Given the description of an element on the screen output the (x, y) to click on. 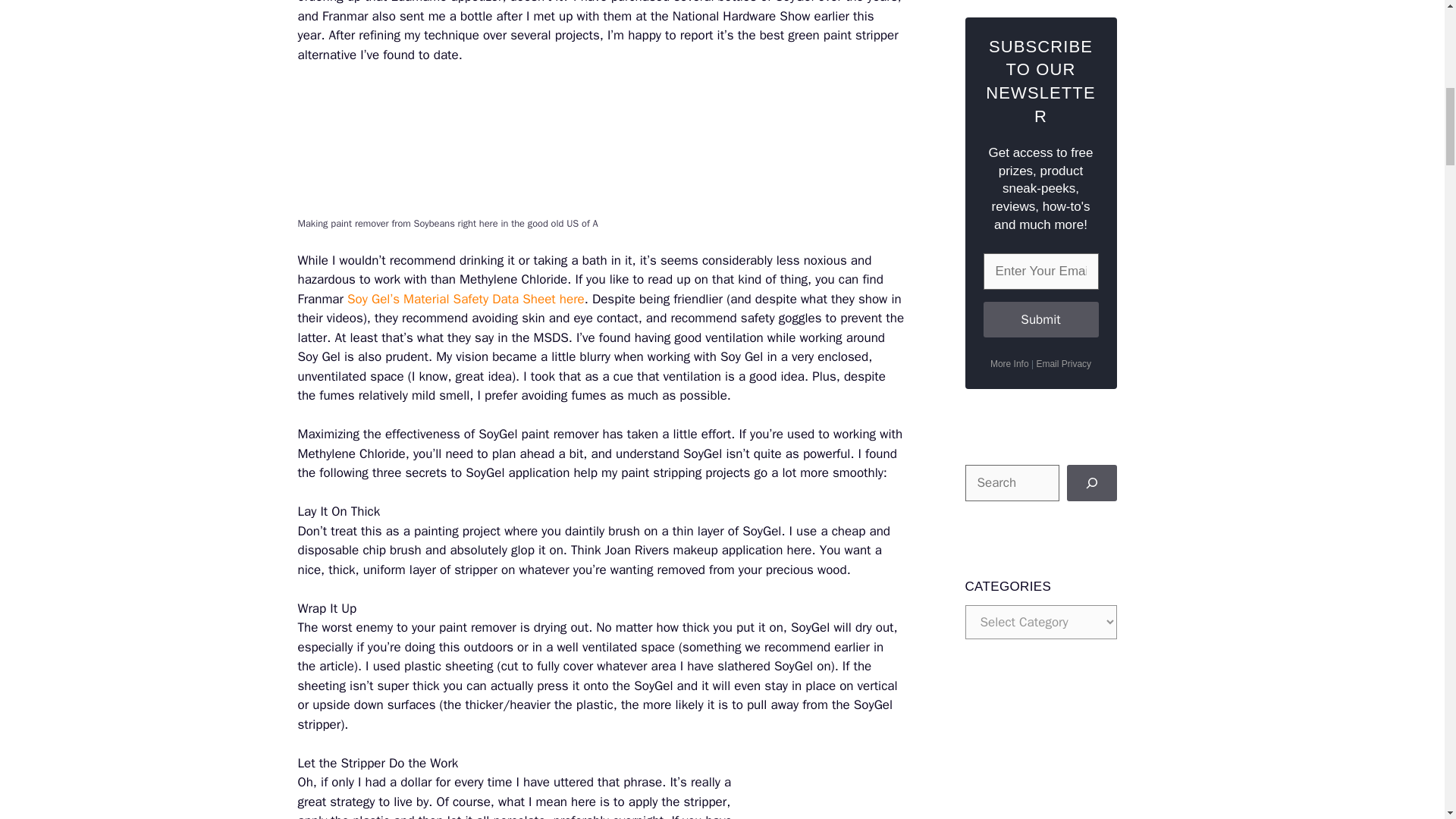
Soy Gel MSDS (466, 299)
soygel-uses (828, 796)
Scroll back to top (1406, 720)
Submit (1039, 320)
FranmarHQ-Bloomington-IL (463, 148)
